Given the description of an element on the screen output the (x, y) to click on. 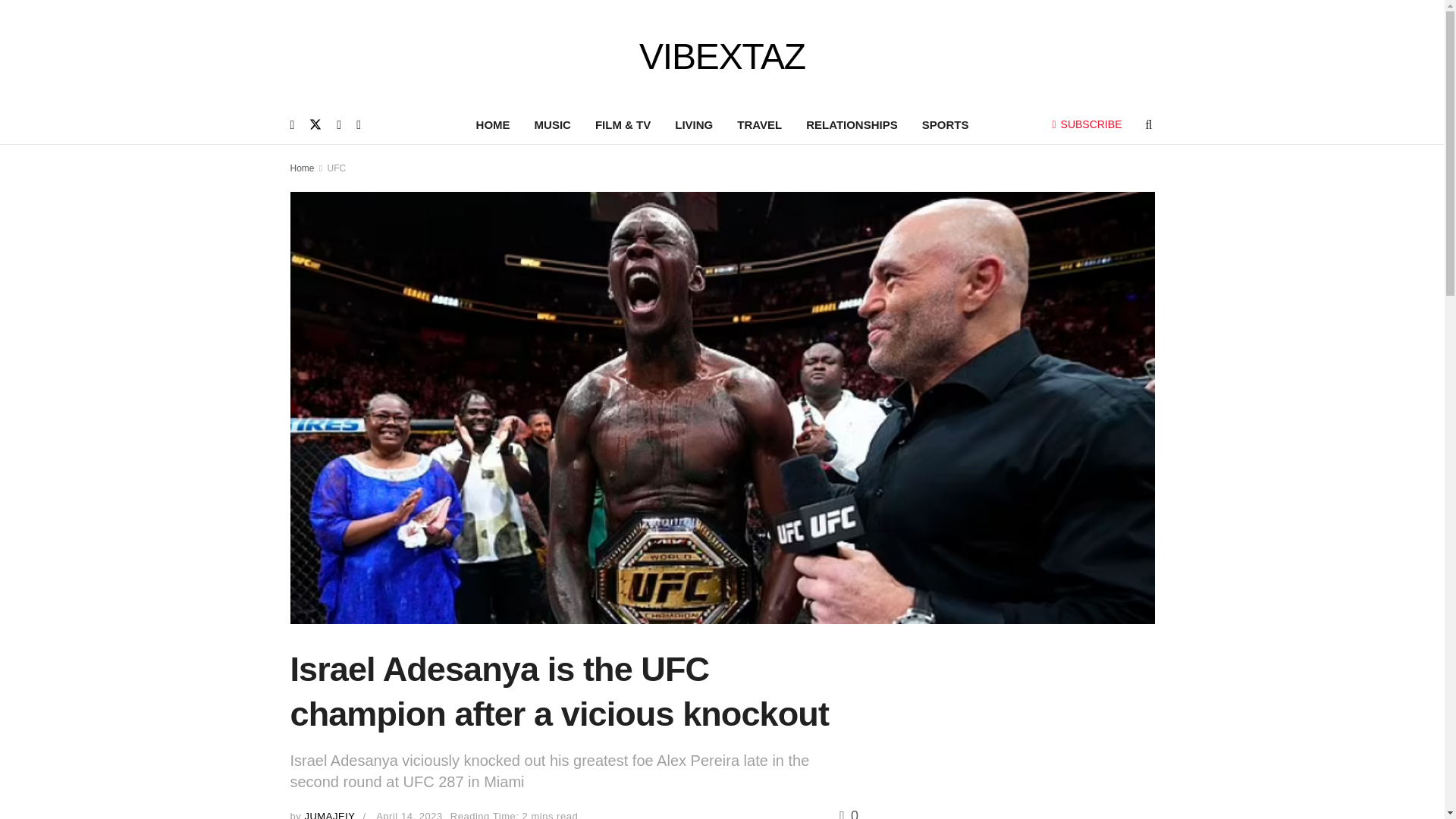
SUBSCRIBE (1087, 123)
TRAVEL (759, 125)
MUSIC (552, 125)
JUMAJEIY (329, 814)
0 (849, 813)
UFC (336, 167)
SPORTS (945, 125)
RELATIONSHIPS (851, 125)
HOME (493, 125)
April 14, 2023 (408, 814)
